Given the description of an element on the screen output the (x, y) to click on. 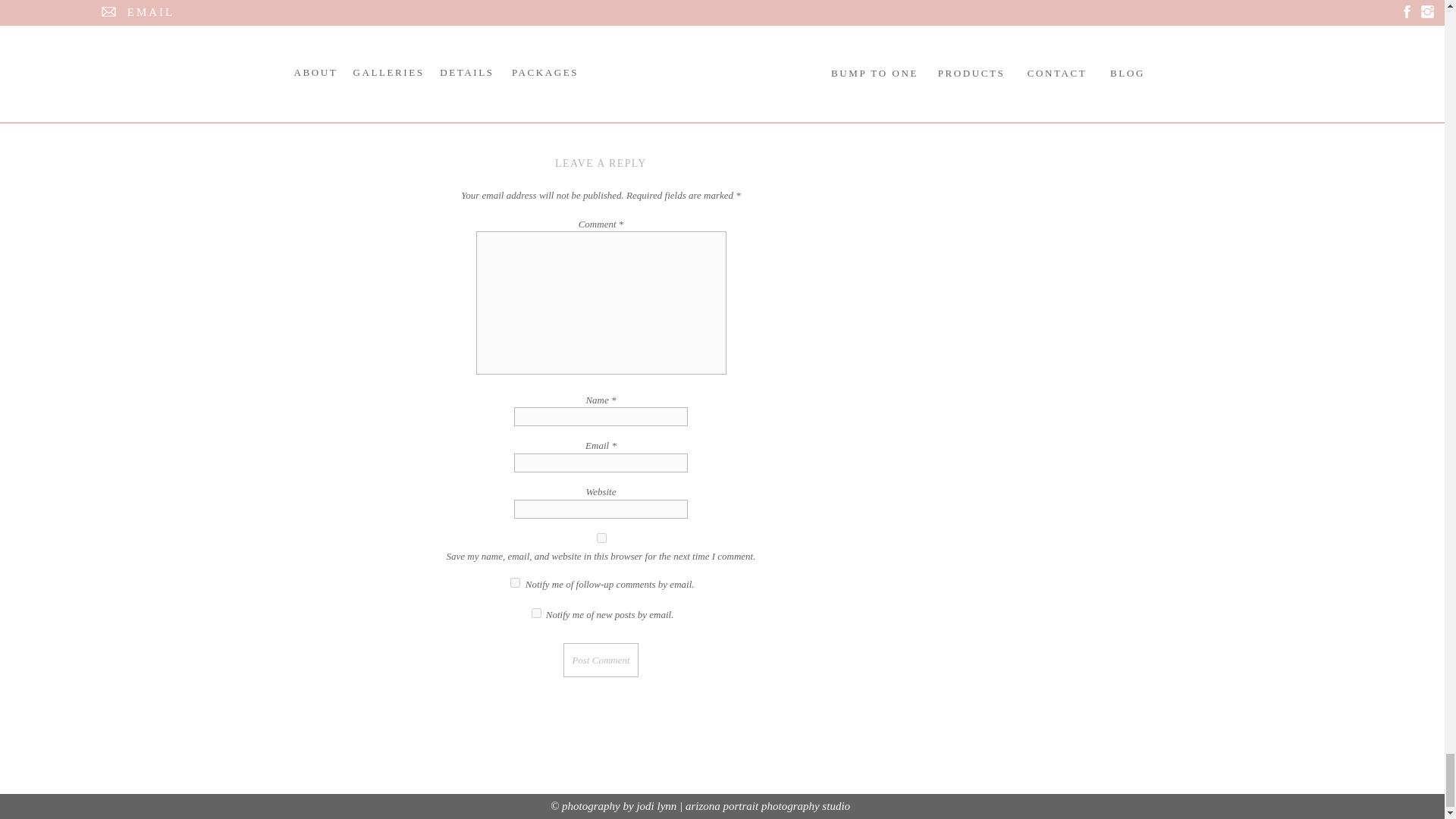
subscribe (536, 613)
Post Comment (600, 659)
yes (600, 537)
subscribe (515, 583)
